Given the description of an element on the screen output the (x, y) to click on. 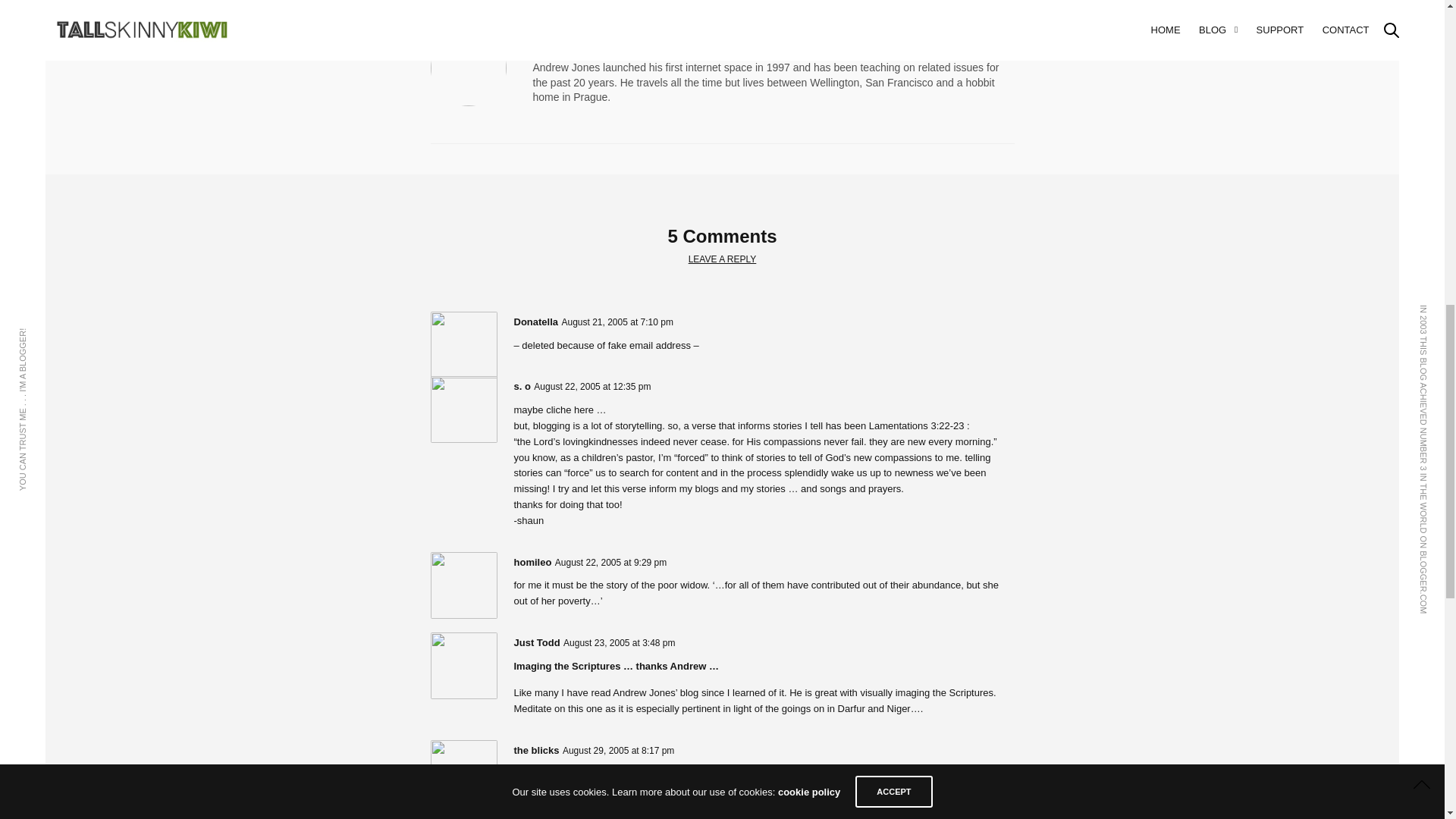
August 29, 2005 at 8:17 pm (618, 750)
August 22, 2005 at 9:29 pm (610, 561)
August 23, 2005 at 3:48 pm (619, 643)
Andrew (573, 41)
homileo (532, 562)
August 21, 2005 at 7:10 pm (616, 321)
LEAVE A REPLY (722, 259)
s. o (522, 386)
Just Todd (536, 642)
August 22, 2005 at 12:35 pm (592, 386)
